Given the description of an element on the screen output the (x, y) to click on. 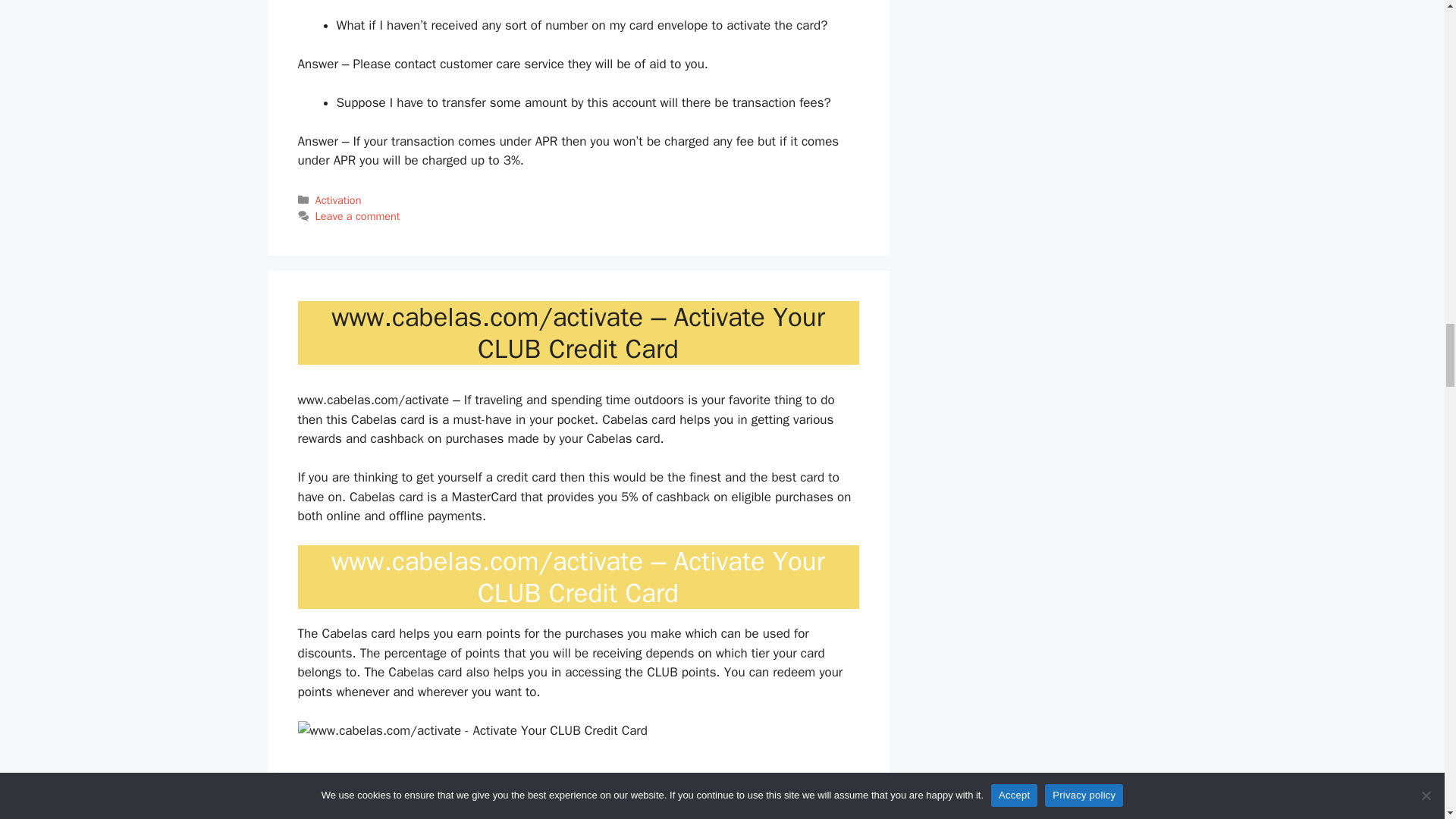
Activation (338, 200)
Leave a comment (357, 215)
